Given the description of an element on the screen output the (x, y) to click on. 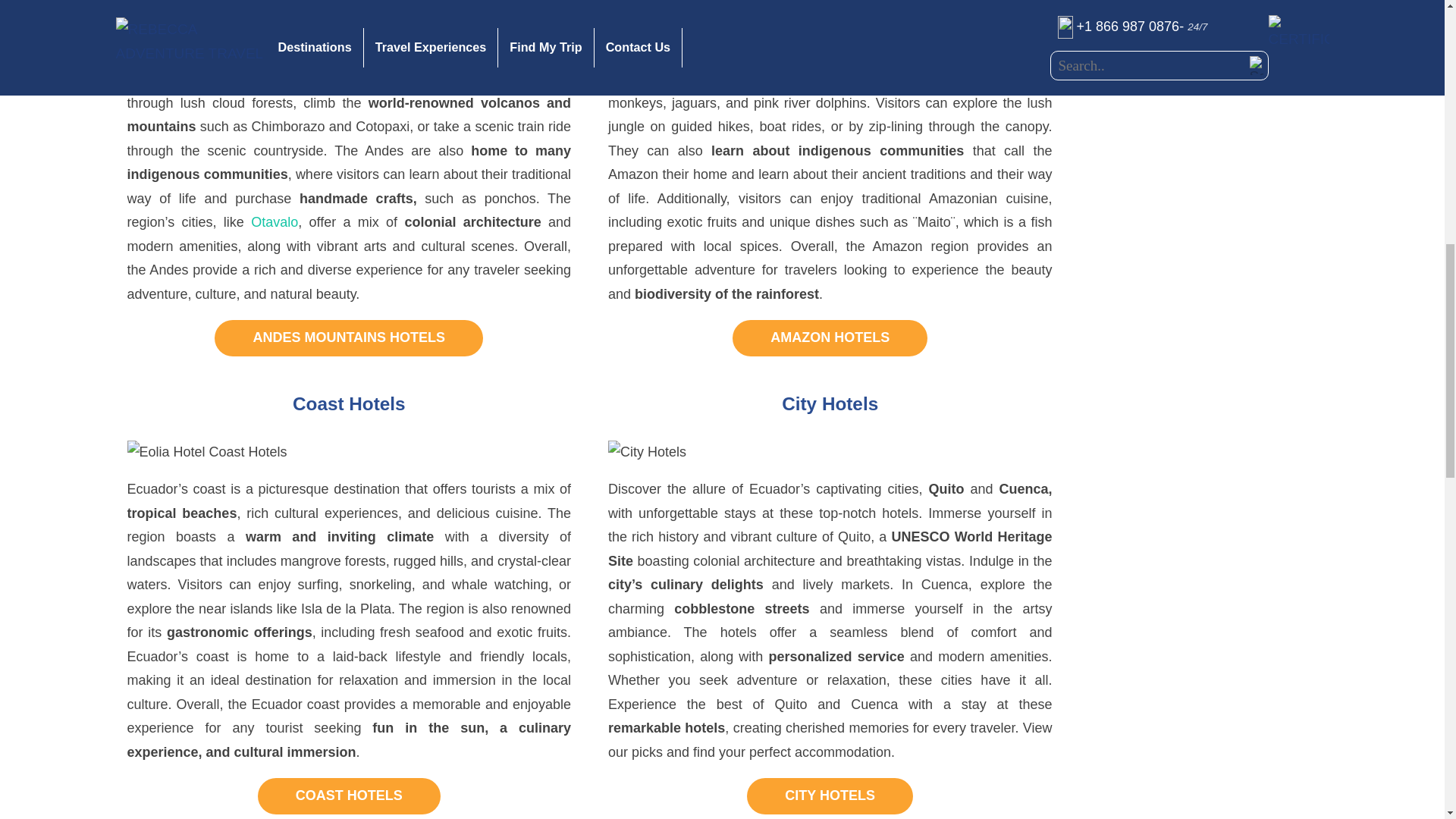
Otavalo City Guide (274, 222)
Amazon hotels list (829, 338)
Andes Mountain hotels list (348, 338)
Coast Hotels list (349, 796)
City Hotels (829, 796)
